Given the description of an element on the screen output the (x, y) to click on. 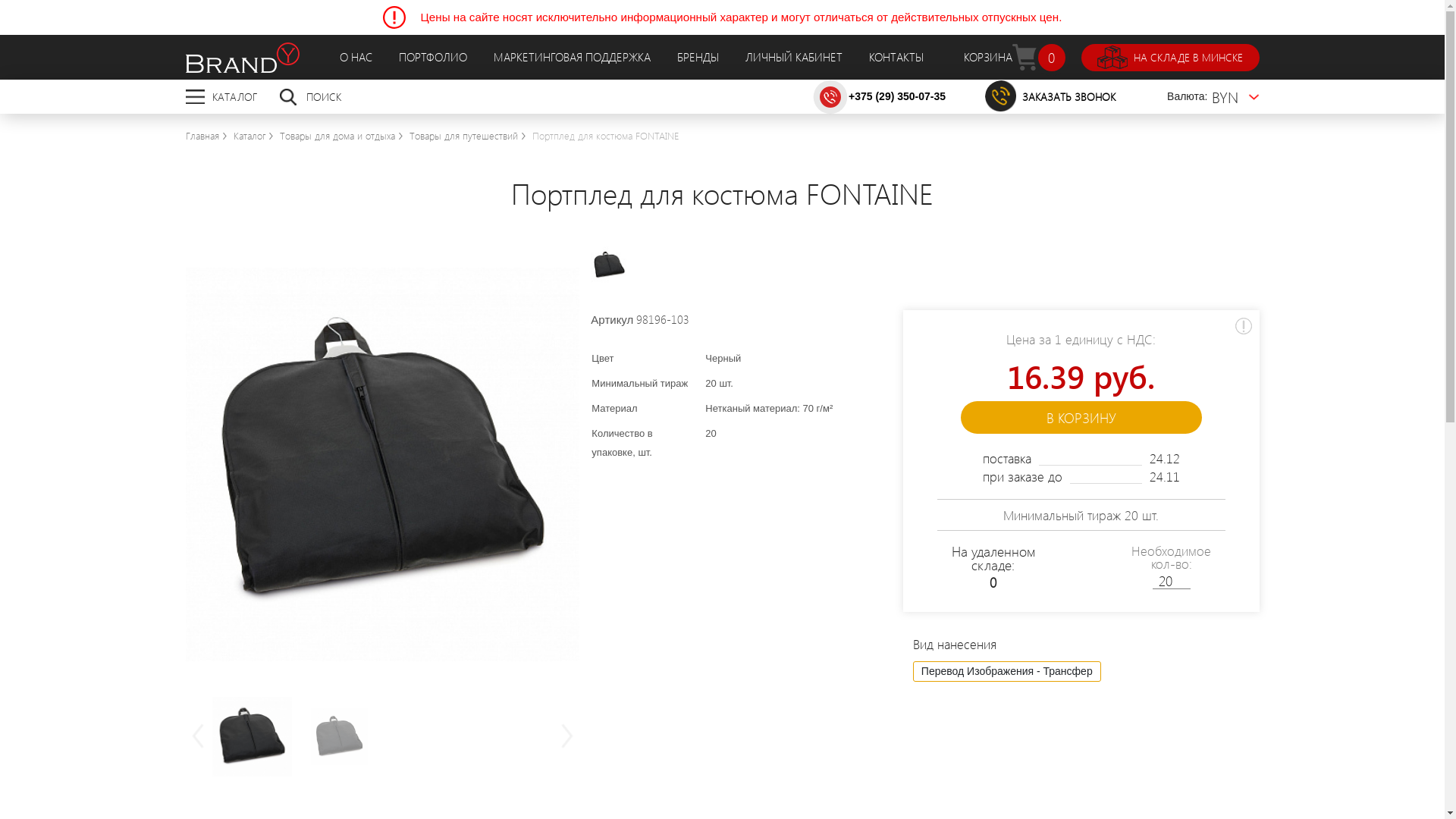
+375 (29) 350-07-35 Element type: text (896, 96)
BYN Element type: text (1235, 96)
ok Element type: text (1131, 96)
